Given the description of an element on the screen output the (x, y) to click on. 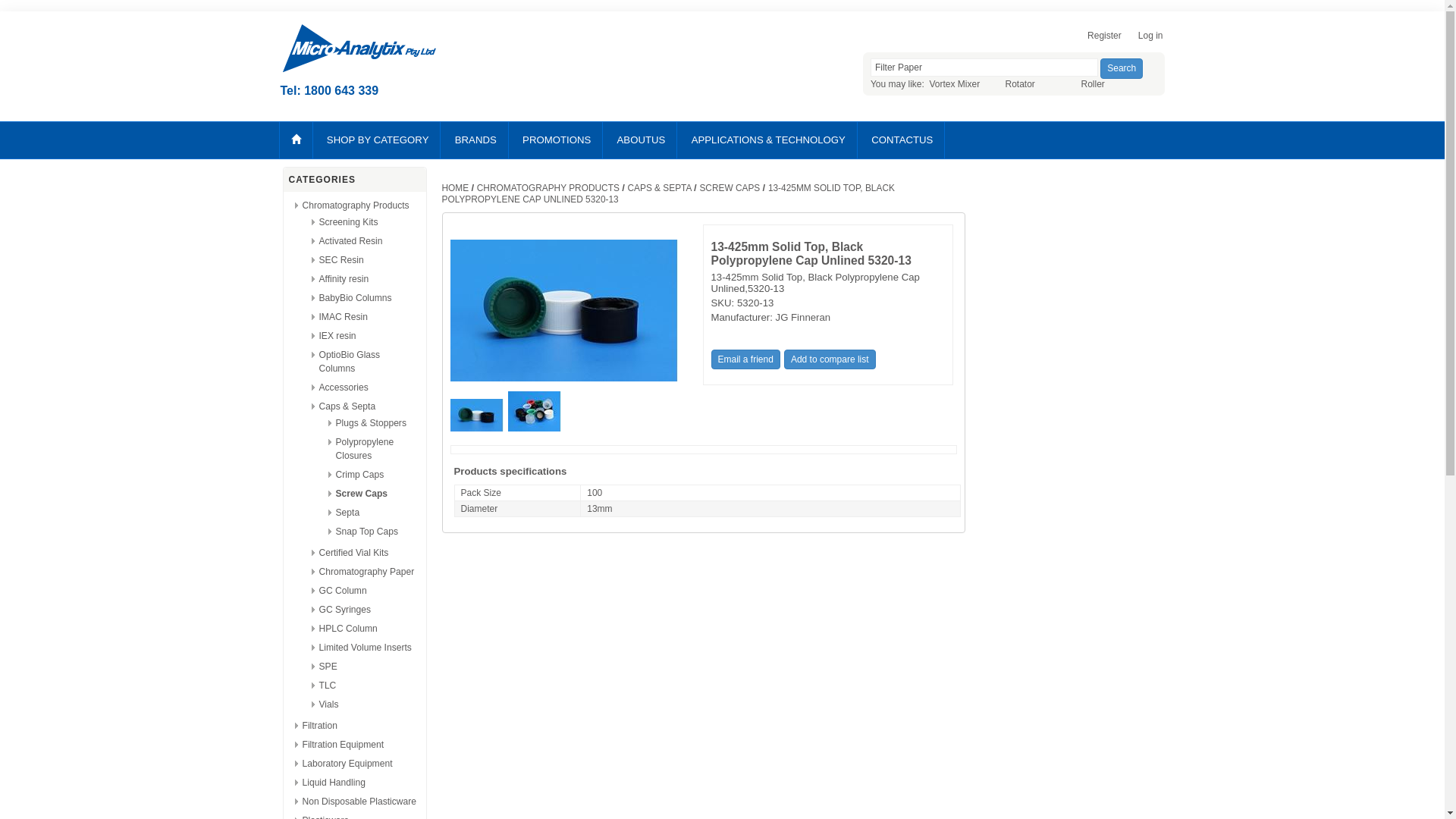
Affinity resin Element type: text (343, 278)
Screening Kits Element type: text (347, 221)
Non Disposable Plasticware Element type: text (358, 801)
Septa Element type: text (347, 512)
PROMOTIONS Element type: text (556, 140)
HPLC Column Element type: text (347, 628)
SCREW CAPS Element type: text (730, 187)
Certified Vial Kits Element type: text (353, 552)
Log in Element type: text (1146, 37)
GC Syringes Element type: text (344, 609)
Accessories Element type: text (342, 387)
JG Finneran Element type: text (803, 317)
Rotator Element type: text (1020, 83)
GC Column Element type: text (342, 590)
Screw Caps Element type: text (361, 493)
Filtration Element type: text (318, 725)
Search Element type: text (1121, 68)
Vials Element type: text (328, 704)
SEC Resin Element type: text (340, 259)
CHROMATOGRAPHY PRODUCTS Element type: text (548, 187)
Activated Resin Element type: text (350, 240)
Laboratory Equipment Element type: text (346, 763)
BabyBio Columns Element type: text (354, 297)
SPE Element type: text (327, 666)
TLC Element type: text (326, 685)
SHOP BY CATEGORY Element type: text (378, 140)
BRANDS Element type: text (475, 140)
IMAC Resin Element type: text (342, 316)
CAPS & SEPTA Element type: text (660, 187)
Vortex Mixer Element type: text (954, 83)
Crimp Caps Element type: text (359, 474)
Caps & Septa Element type: text (346, 406)
IEX resin Element type: text (336, 335)
Limited Volume Inserts Element type: text (364, 647)
Register Element type: text (1100, 37)
Add to compare list Element type: text (829, 359)
HOME Element type: text (455, 187)
Snap Top Caps Element type: text (366, 531)
Liquid Handling Element type: text (332, 782)
APPLICATIONS & TECHNOLOGY Element type: text (768, 140)
Chromatography Products Element type: text (354, 205)
13-425mm Solid Top, Black Polypropylene Cap Unlined 5320-13 Element type: hover (477, 428)
Polypropylene Closures Element type: text (364, 448)
Chromatography Paper Element type: text (366, 571)
Email a friend Element type: text (745, 359)
Roller Element type: text (1092, 83)
OptioBio Glass Columns Element type: text (348, 361)
CONTACTUS Element type: text (901, 140)
13-425mm Solid Top, Black Polypropylene Cap Unlined 5320-13 Element type: hover (534, 428)
Filtration Equipment Element type: text (342, 744)
ABOUTUS Element type: text (641, 140)
Plugs & Stoppers Element type: text (370, 422)
